Given the description of an element on the screen output the (x, y) to click on. 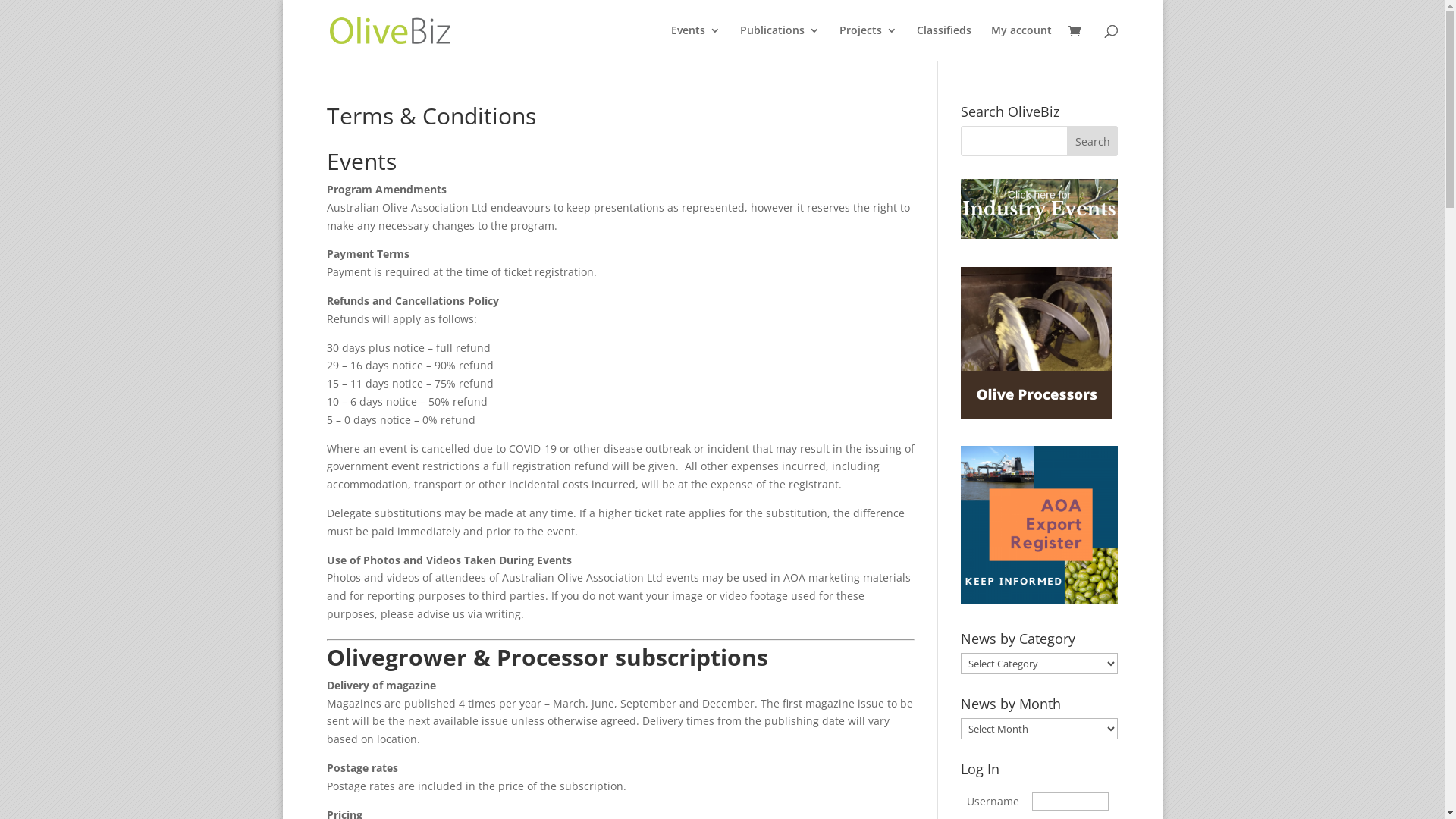
Projects Element type: text (867, 42)
Publications Element type: text (779, 42)
My account Element type: text (1020, 42)
Classifieds Element type: text (943, 42)
Events Element type: text (694, 42)
Search Element type: text (1092, 140)
